Given the description of an element on the screen output the (x, y) to click on. 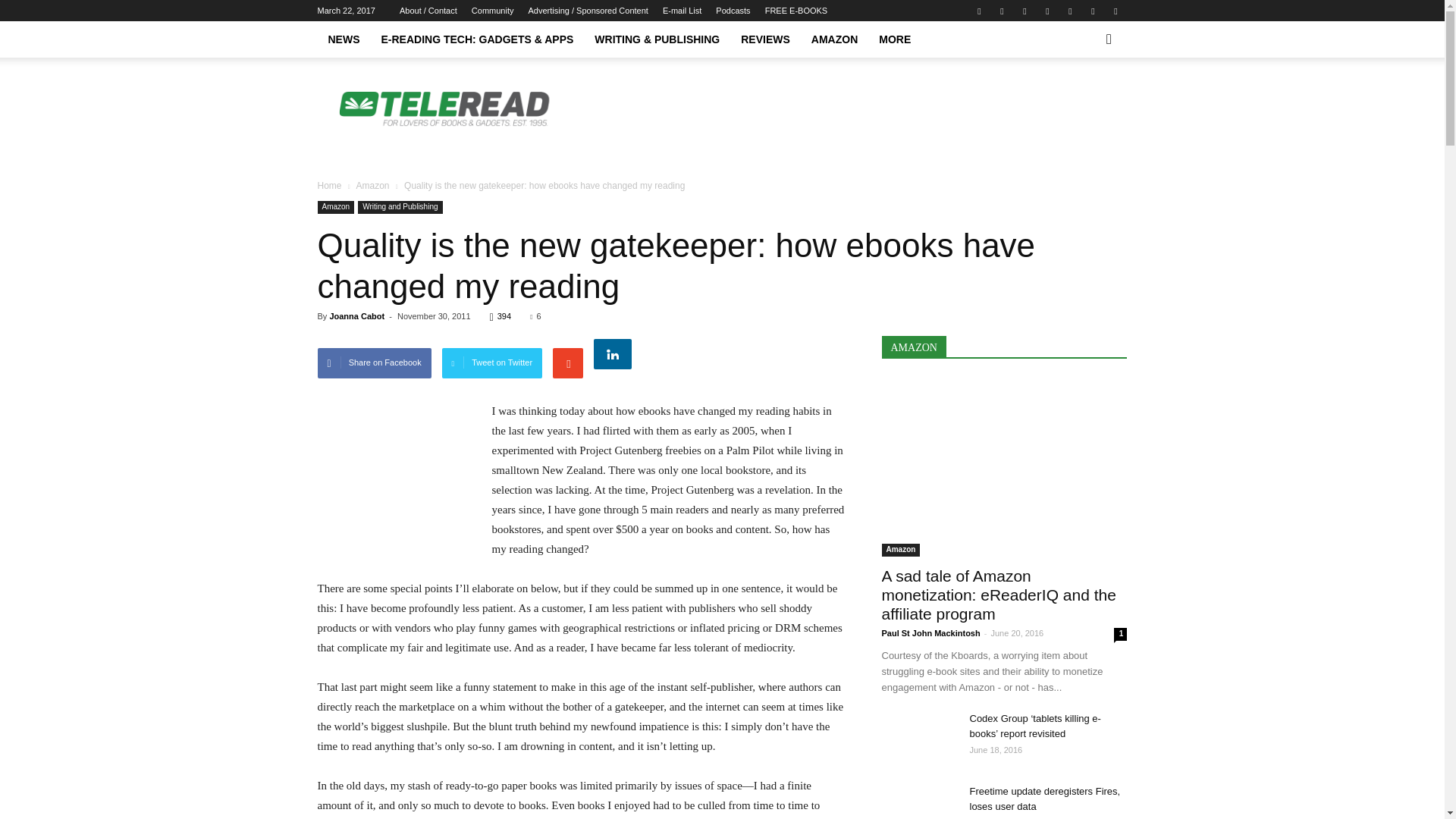
E-mail List (681, 10)
RSS (1069, 10)
Community (492, 10)
Podcasts (732, 10)
Tumblr (1092, 10)
Facebook (979, 10)
FREE E-BOOKS (796, 10)
Twitter (1114, 10)
NEWS (343, 39)
Linkedin (1024, 10)
